Given the description of an element on the screen output the (x, y) to click on. 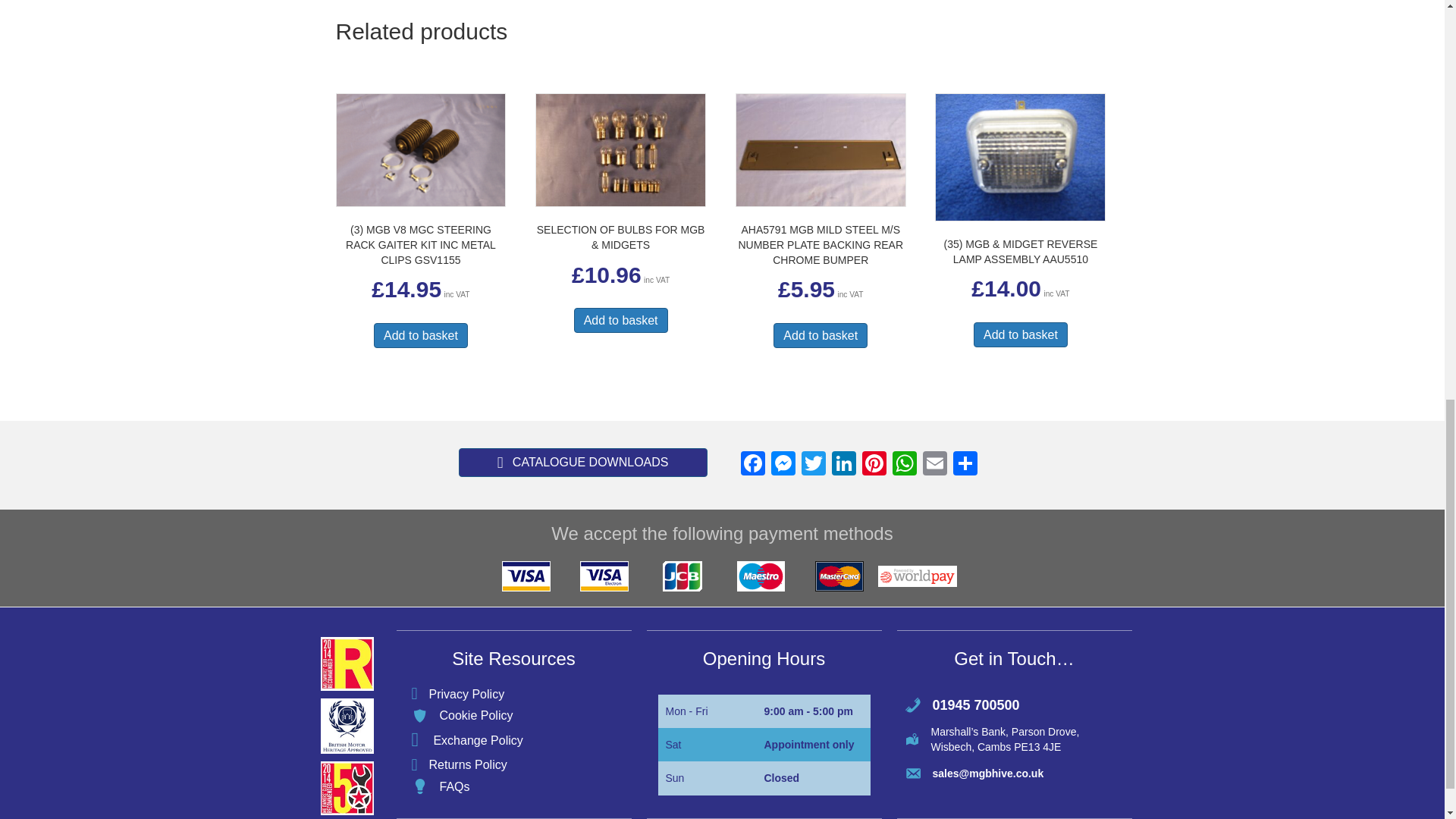
Messenger (782, 465)
Pinterest (873, 465)
Twitter (812, 465)
Facebook (751, 465)
LinkedIn (843, 465)
